Given the description of an element on the screen output the (x, y) to click on. 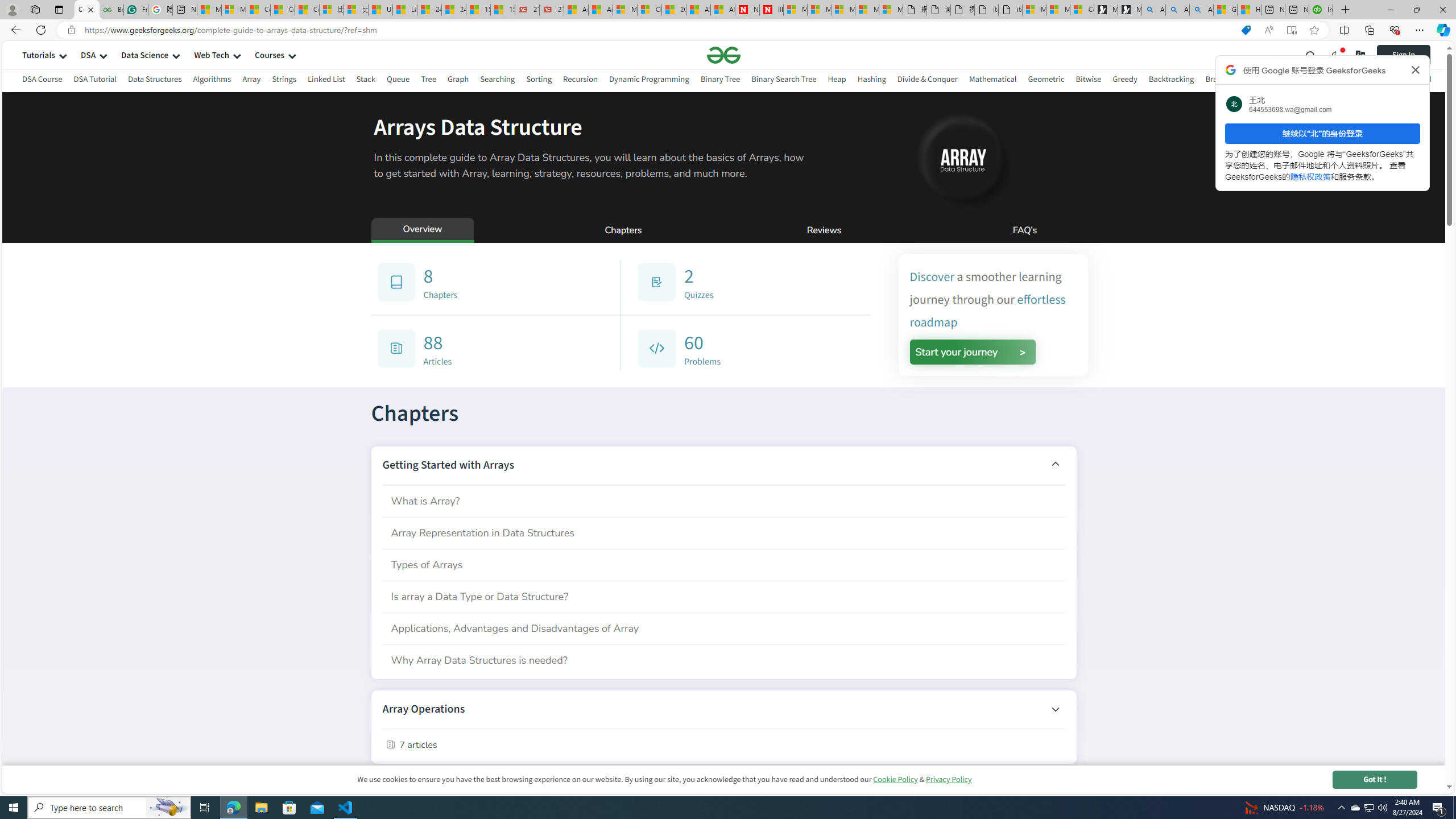
Sign In (1403, 55)
DSA Tutorial (94, 79)
Bitwise (1089, 80)
Graph (457, 80)
Sign In (1411, 54)
Algorithms (212, 79)
Queue (398, 80)
Matrix (1291, 79)
Array Representation in Data Structures (723, 532)
Bitwise (1089, 79)
